Given the description of an element on the screen output the (x, y) to click on. 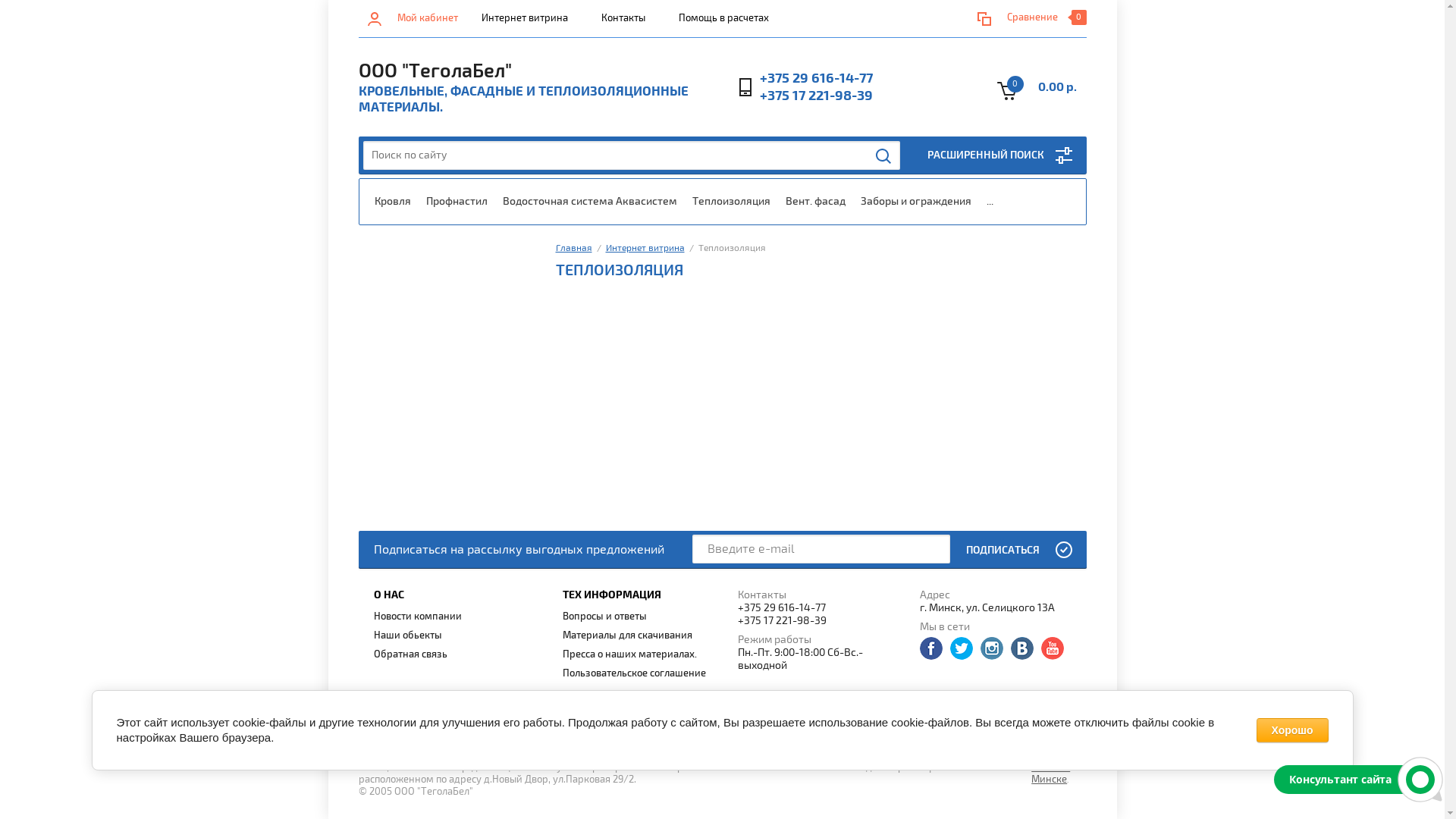
+375 17 221-98-39 Element type: text (815, 95)
+375 17 221-98-39 Element type: text (820, 620)
... Element type: text (989, 201)
+375 29 616-14-77 Element type: text (820, 607)
+375 29 616-14-77 Element type: text (815, 78)
